Given the description of an element on the screen output the (x, y) to click on. 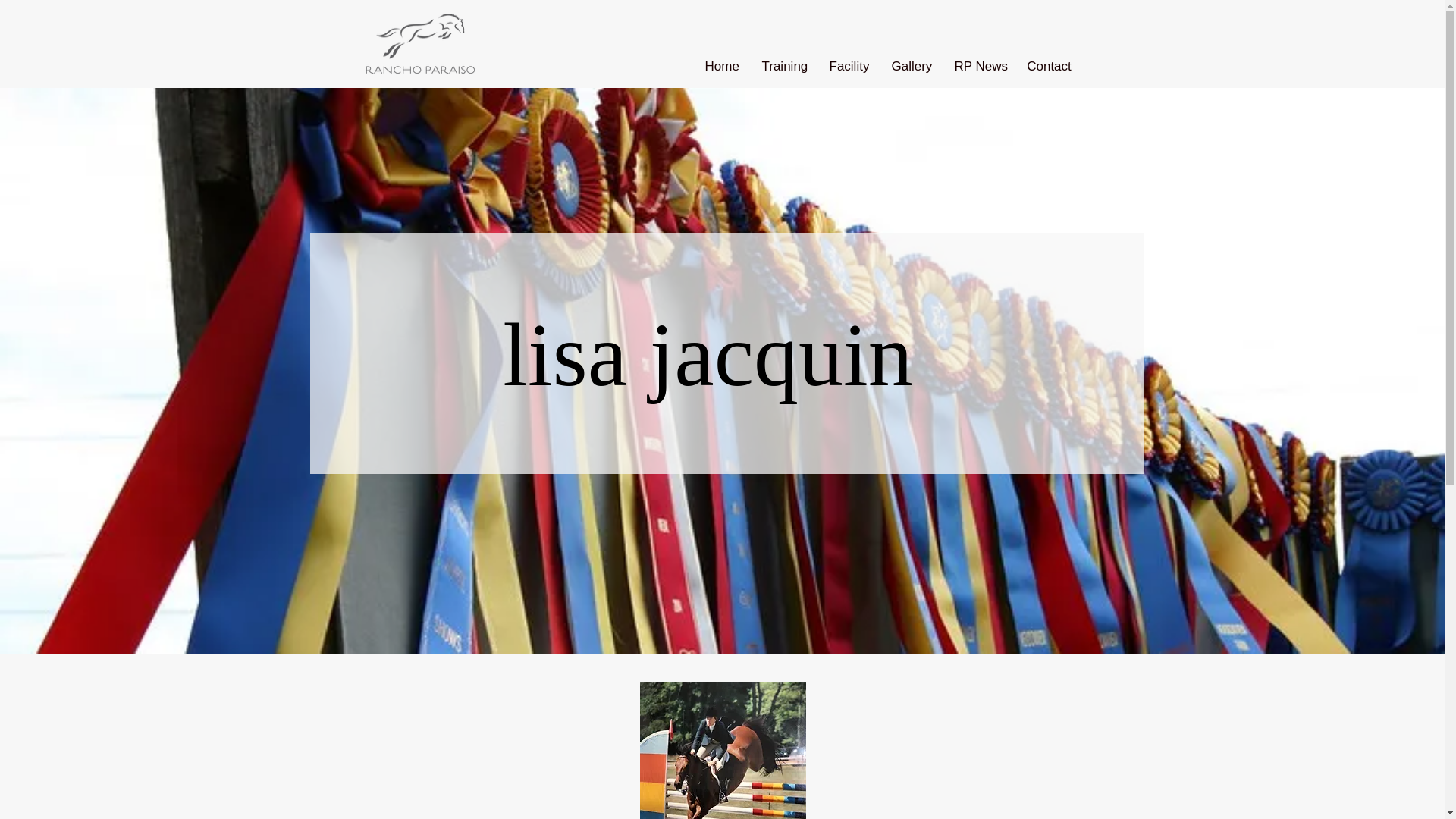
Facility (847, 66)
Training (784, 66)
Home (721, 66)
RP News (978, 66)
Gallery (910, 66)
Contact (1048, 66)
